Given the description of an element on the screen output the (x, y) to click on. 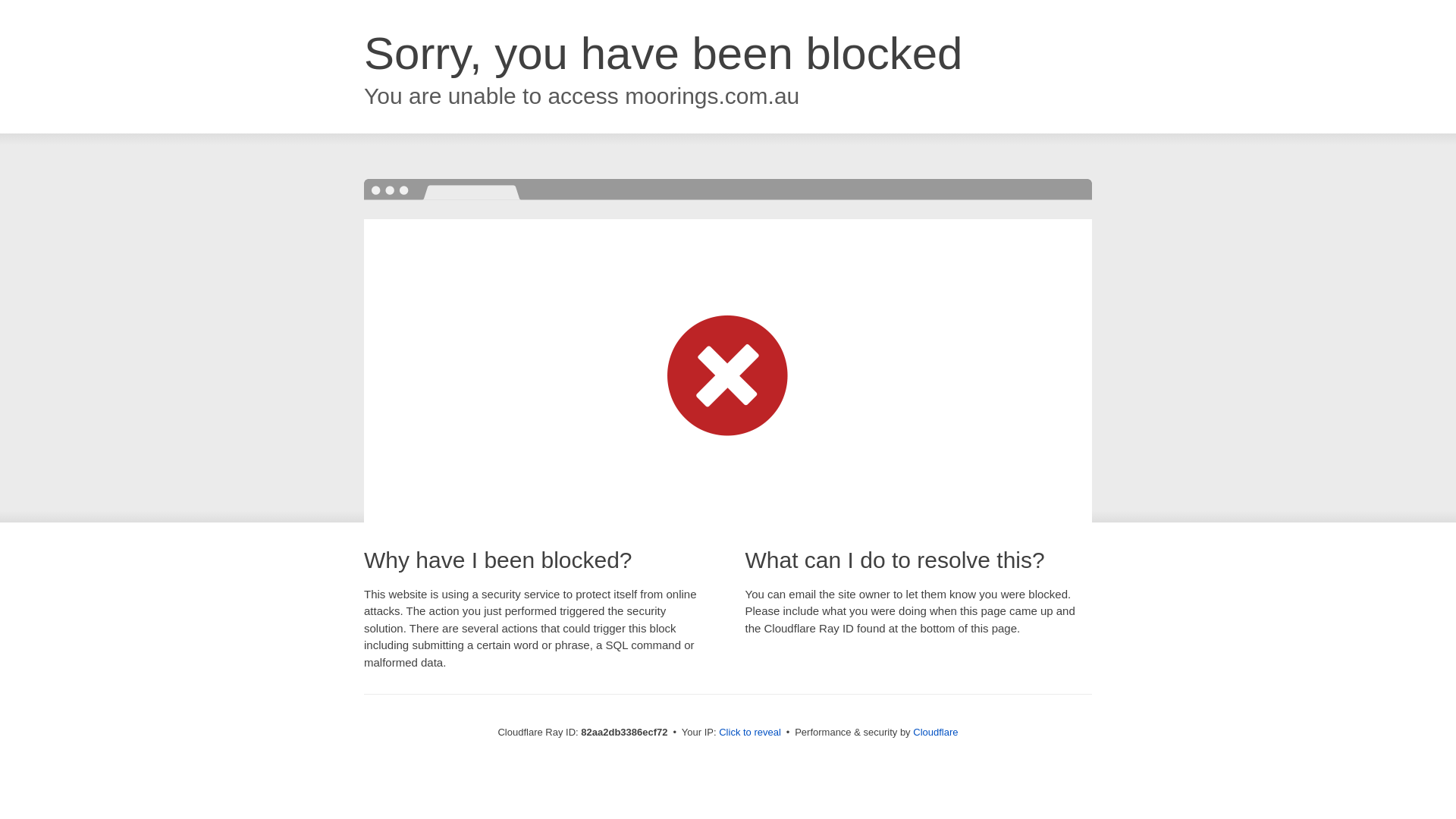
Cloudflare Element type: text (935, 731)
Click to reveal Element type: text (749, 732)
